Given the description of an element on the screen output the (x, y) to click on. 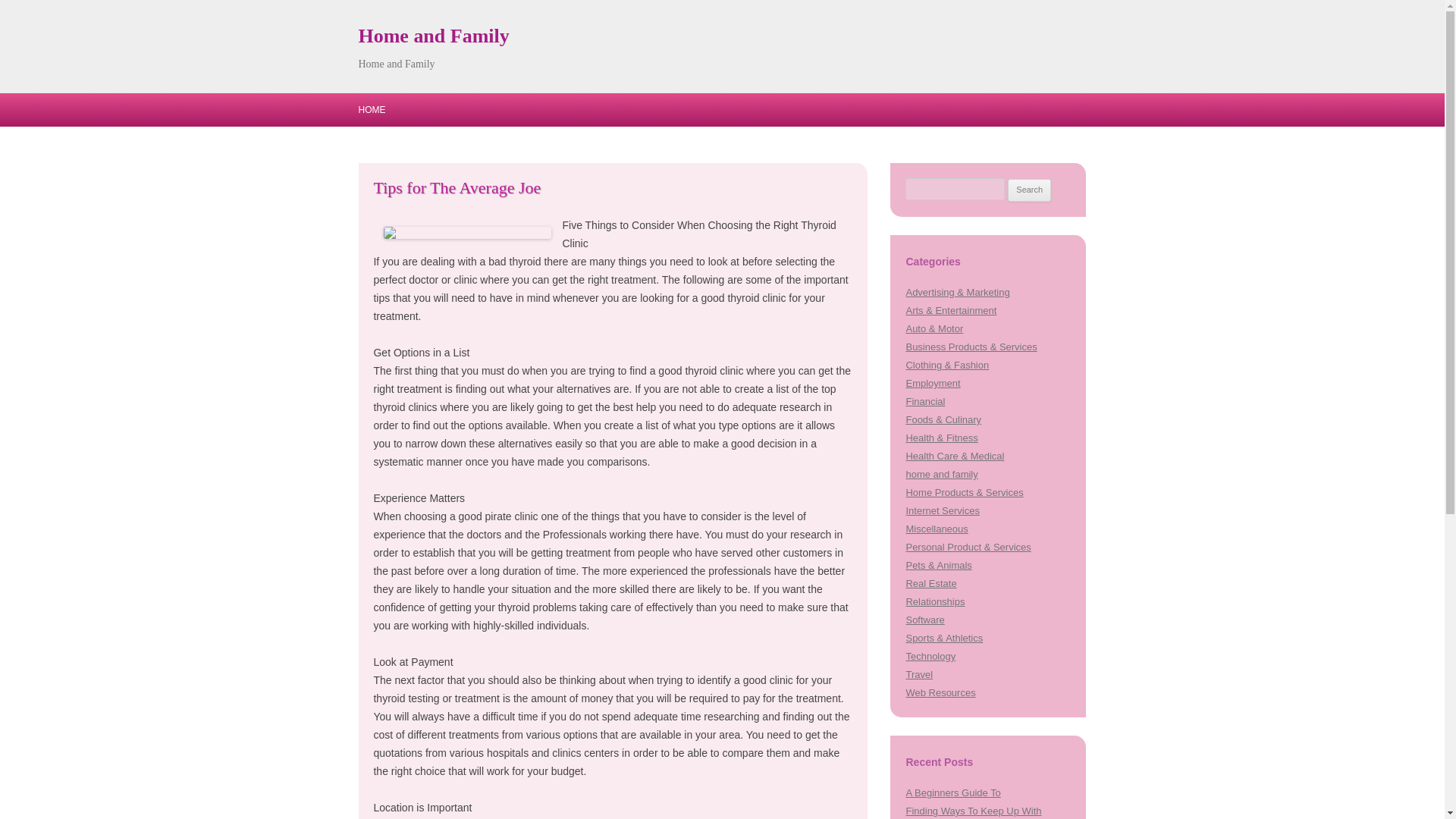
Technology (930, 655)
Employment (932, 383)
Home and Family (433, 36)
home and family (940, 473)
A Beginners Guide To (952, 792)
Relationships (934, 601)
Software (924, 619)
Internet Services (941, 510)
Home and Family (433, 36)
Financial (924, 401)
Real Estate (930, 583)
Miscellaneous (936, 528)
Web Resources (940, 692)
